Given the description of an element on the screen output the (x, y) to click on. 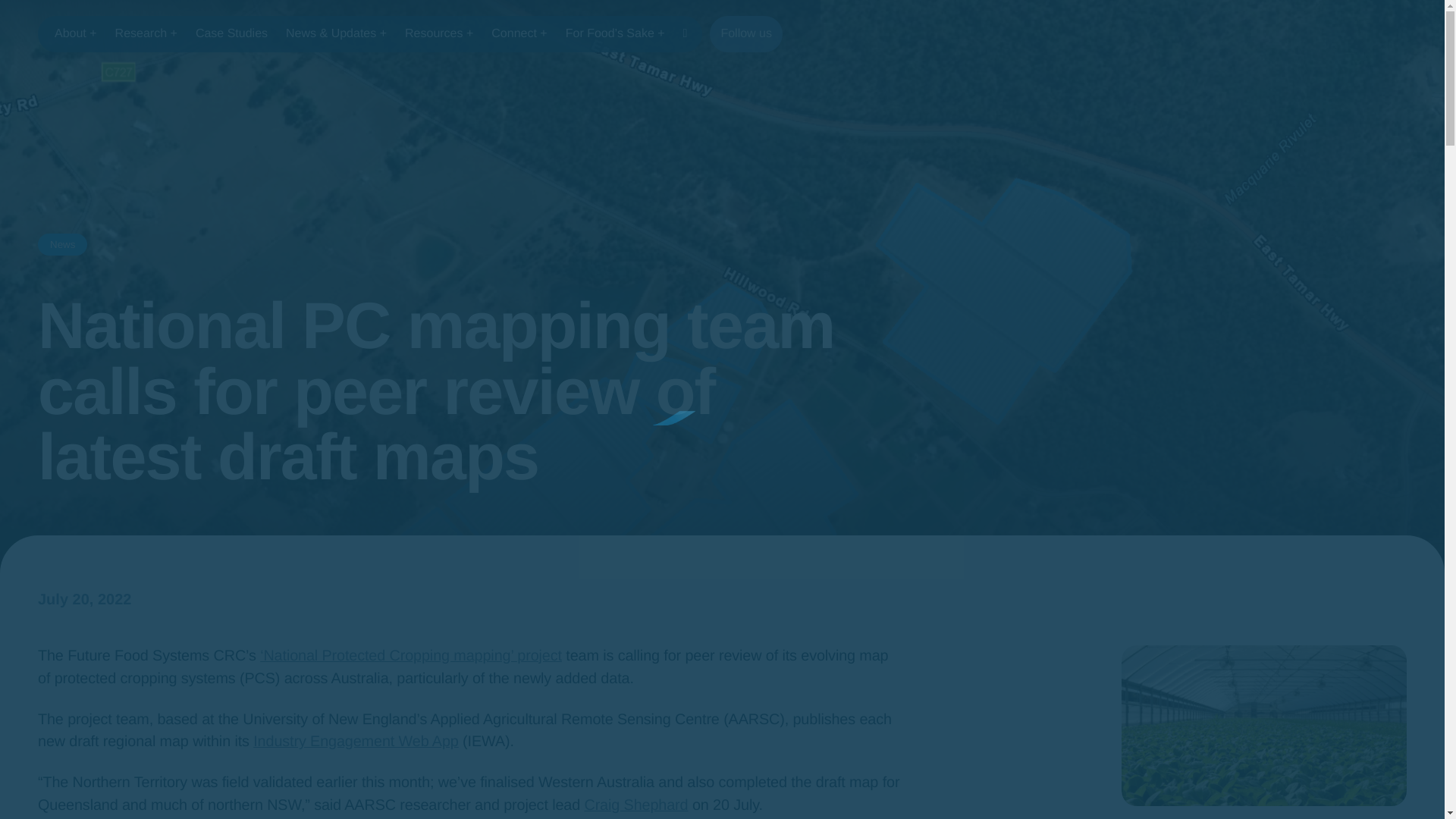
Case Studies (231, 33)
Follow us (746, 33)
Connect (518, 33)
Resources (438, 33)
Go! (22, 15)
About (75, 33)
Research (146, 33)
